Given the description of an element on the screen output the (x, y) to click on. 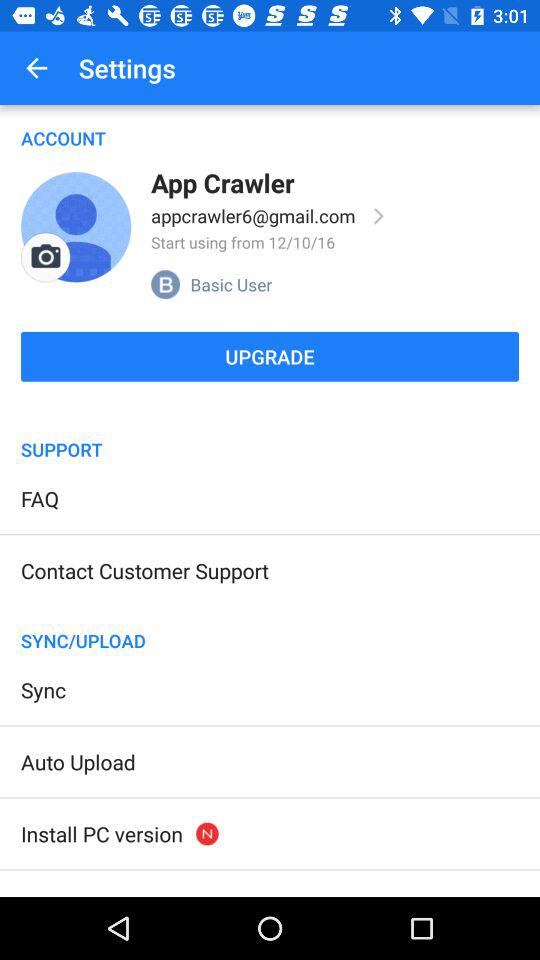
flip until auto upload (78, 761)
